Given the description of an element on the screen output the (x, y) to click on. 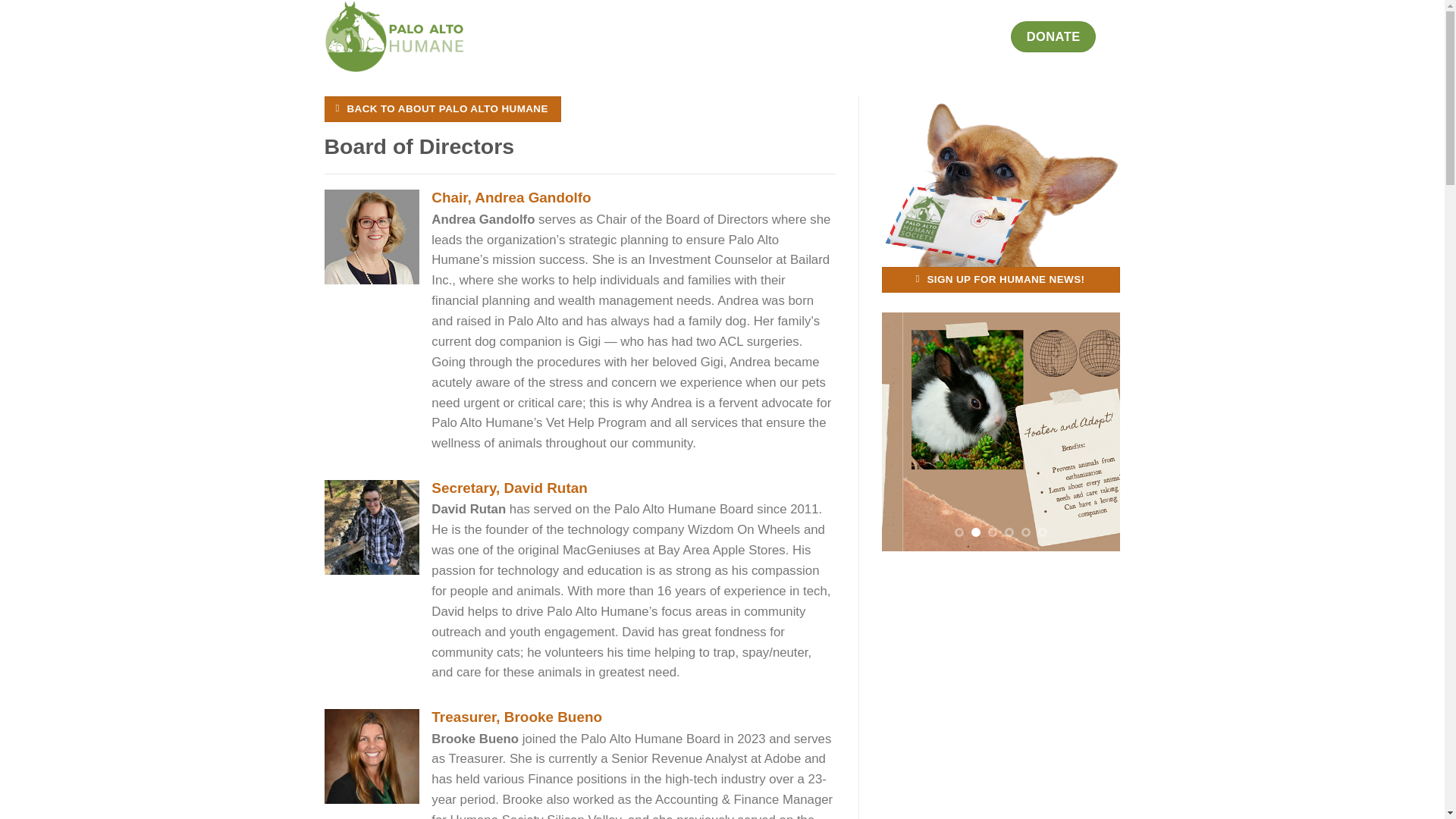
RESOURCES (796, 36)
DONATE (1053, 36)
EVENTS (871, 35)
NEWS (922, 35)
SIGN UP FOR HUMANE NEWS! (999, 279)
ABOUT (633, 36)
GIVING (976, 36)
Palo Alto Humane - Creating Compassionate Communities. (414, 36)
BACK TO ABOUT PALO ALTO HUMANE (442, 109)
PROGRAMS (706, 36)
